Given the description of an element on the screen output the (x, y) to click on. 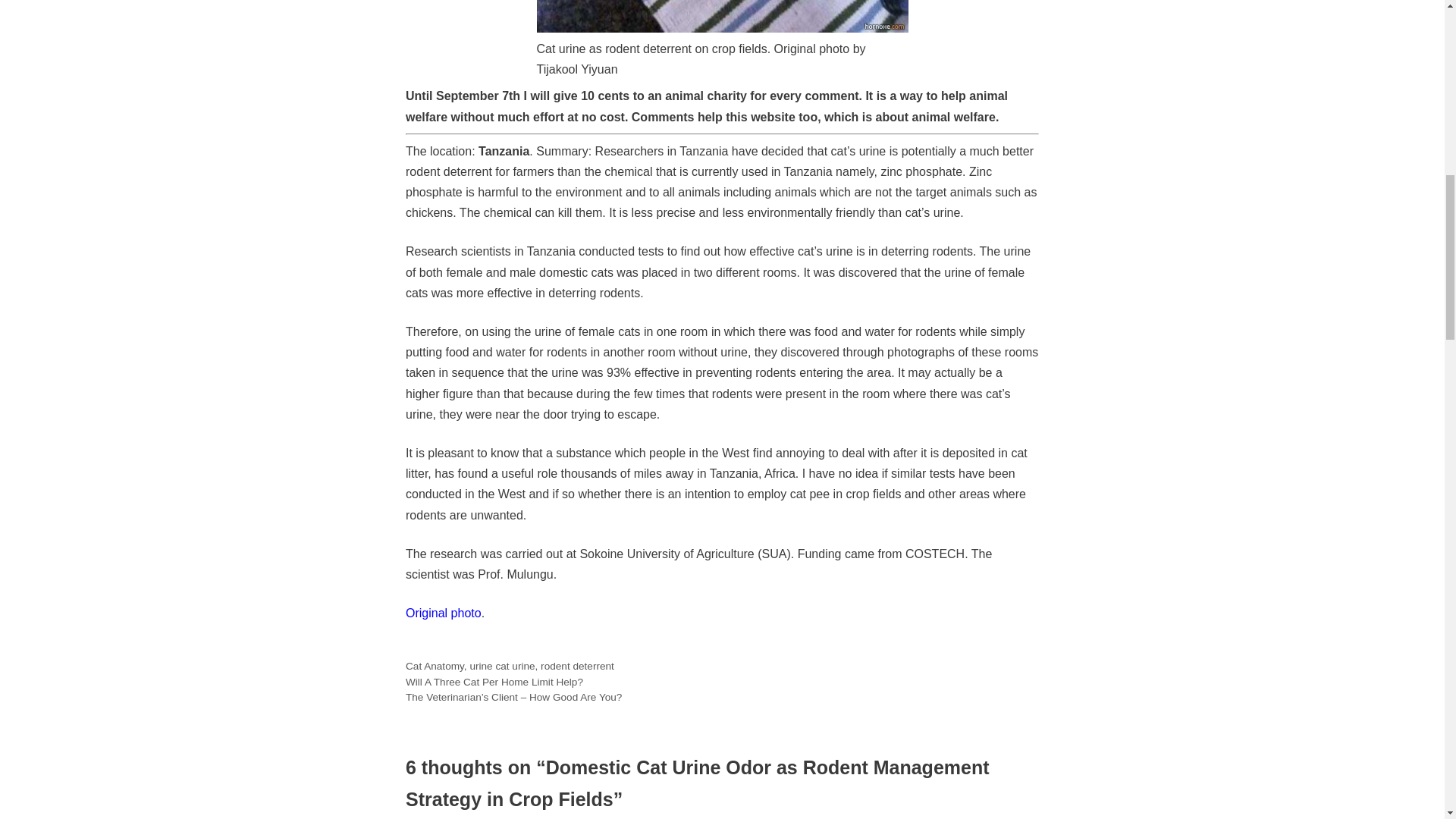
urine (480, 665)
Original photo (443, 612)
Will A Three Cat Per Home Limit Help? (494, 681)
Cat Anatomy (435, 665)
rodent deterrent (577, 665)
cat urine (514, 665)
